Given the description of an element on the screen output the (x, y) to click on. 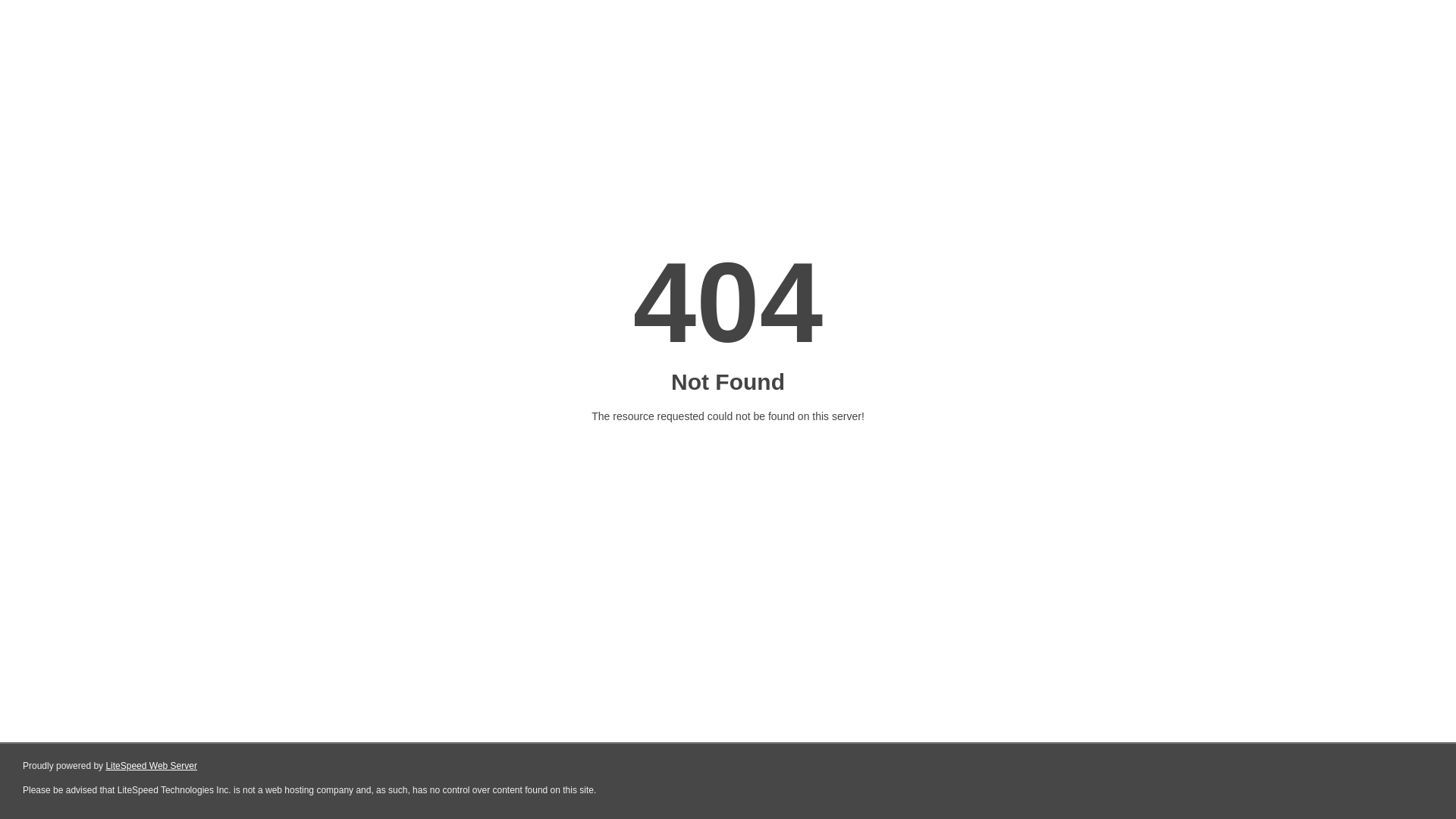
LiteSpeed Web Server Element type: text (151, 765)
